Given the description of an element on the screen output the (x, y) to click on. 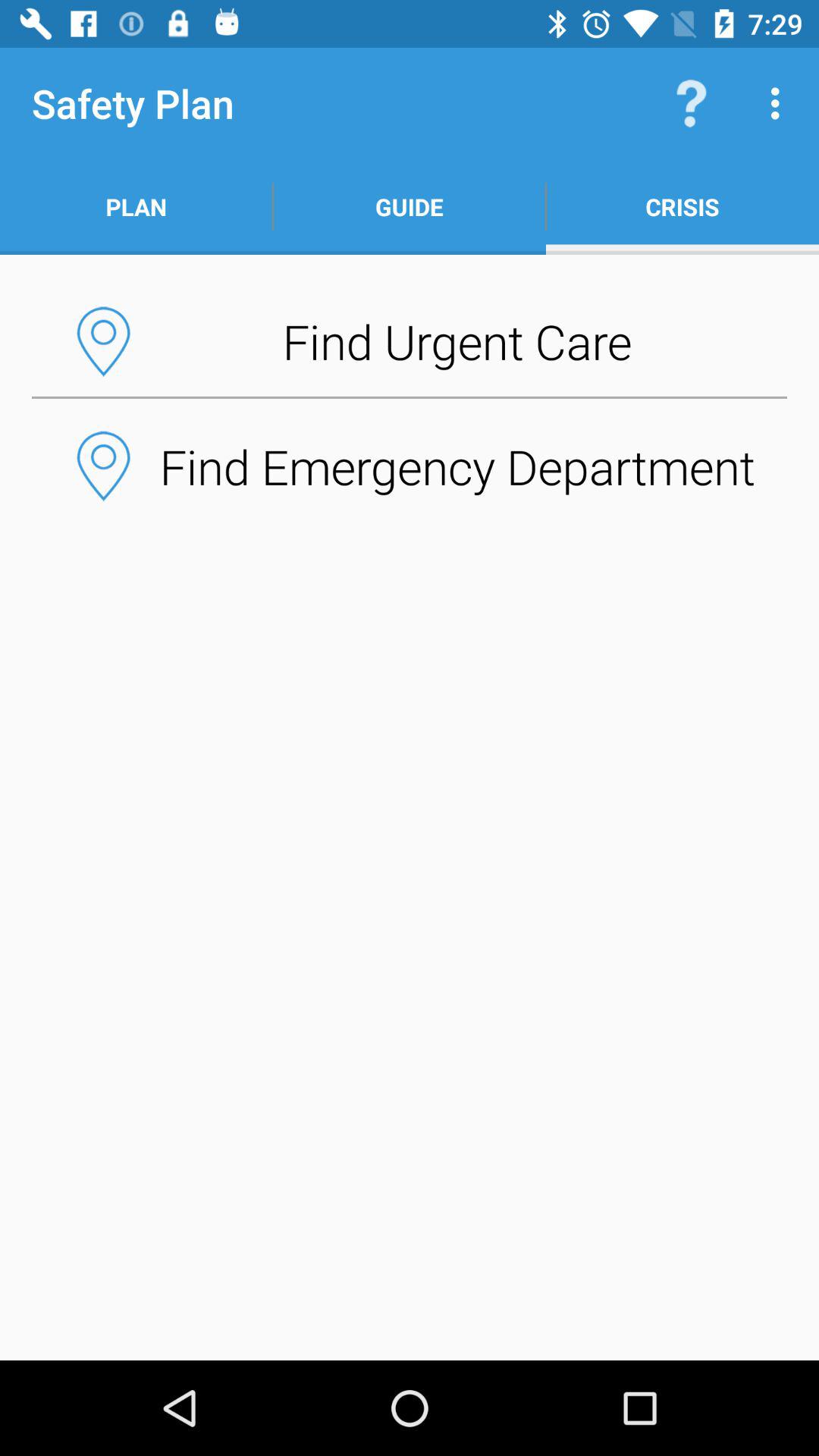
select item below plan app (409, 341)
